Given the description of an element on the screen output the (x, y) to click on. 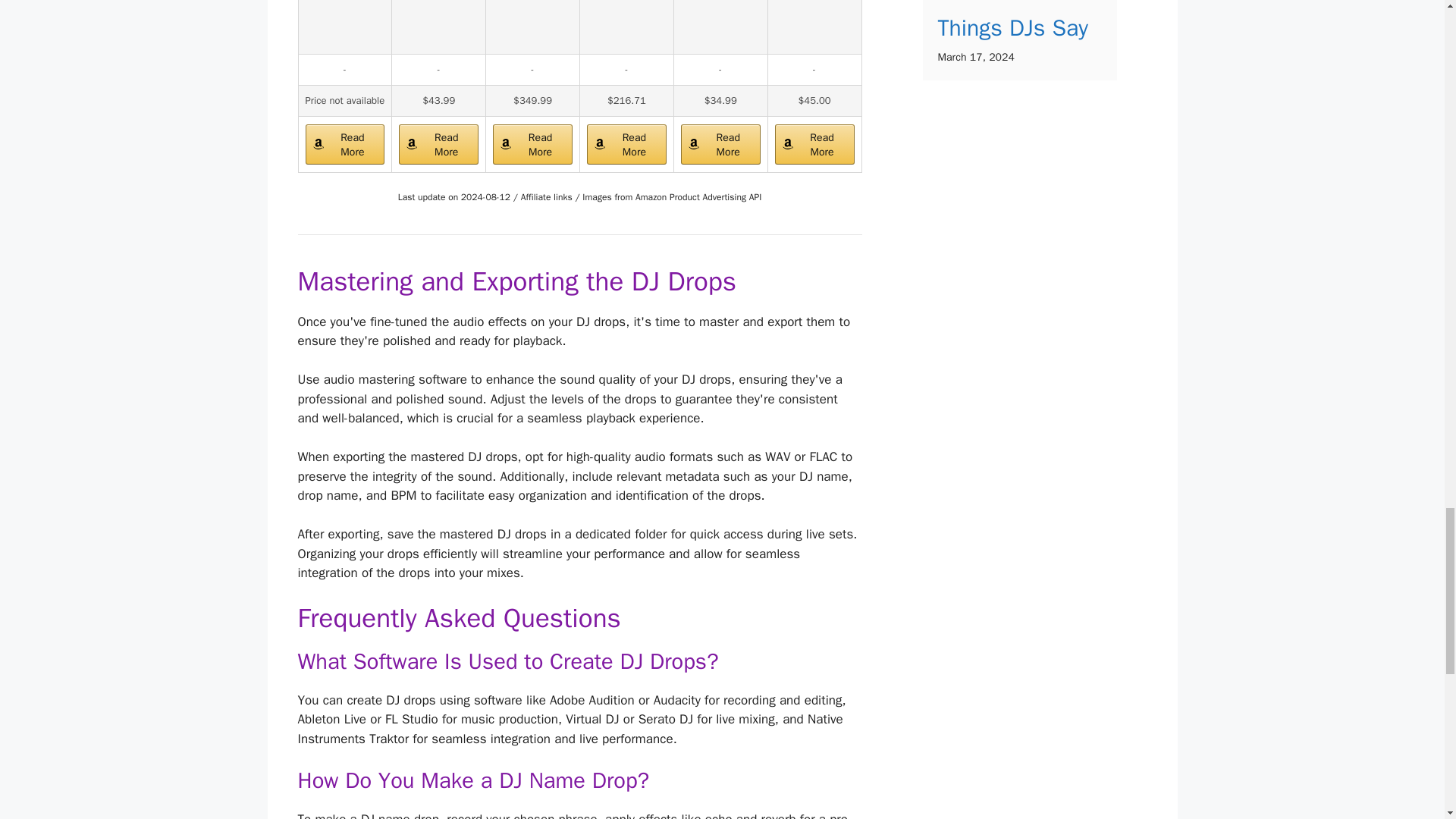
Read More (438, 144)
Read More (814, 144)
Read More (720, 144)
Read More (720, 144)
Read More (438, 144)
Read More (532, 144)
Read More (626, 144)
Read More (344, 144)
Read More (814, 144)
Read More (626, 144)
